Given the description of an element on the screen output the (x, y) to click on. 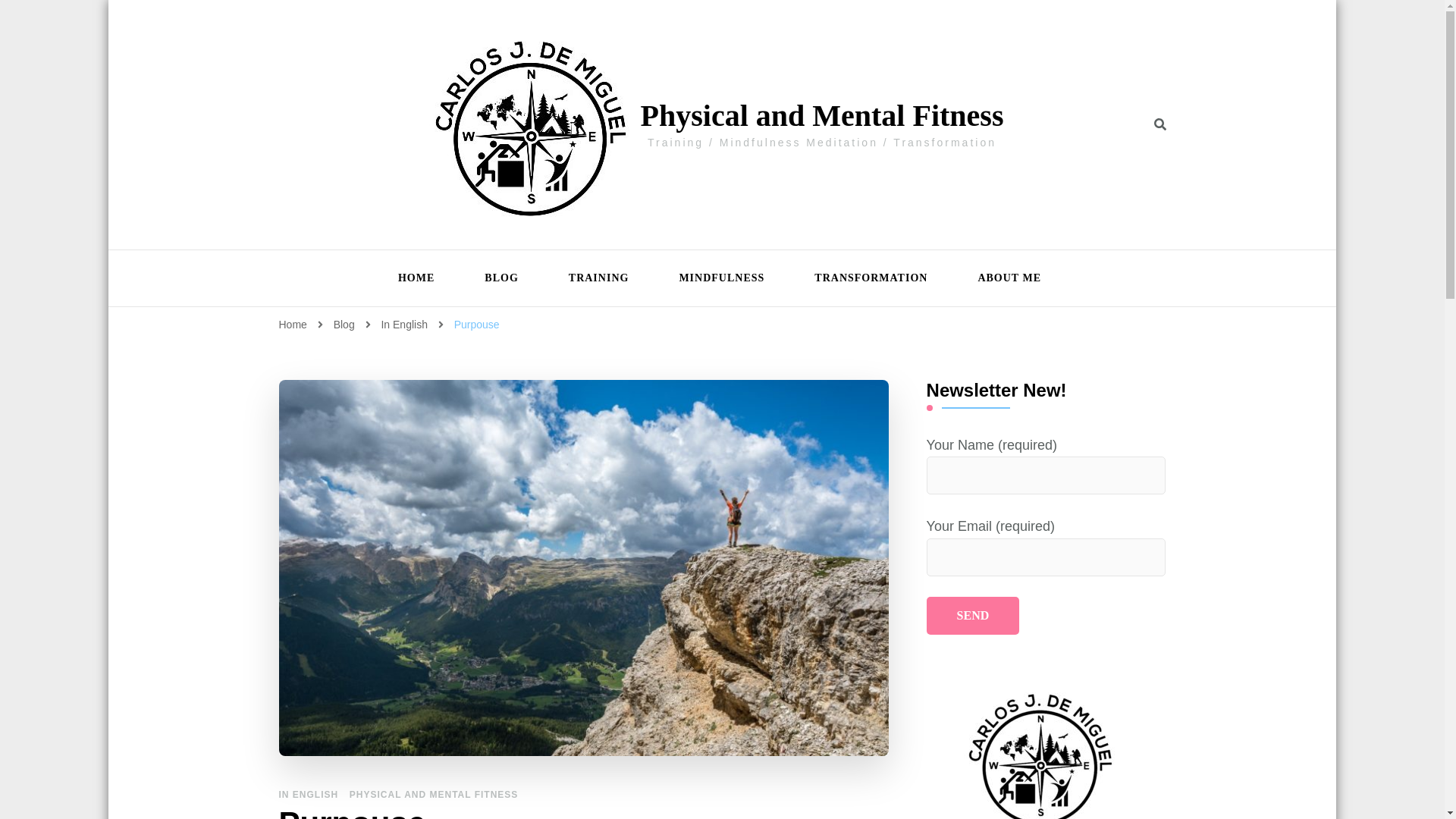
In English (404, 324)
MINDFULNESS (721, 277)
Purpouse (476, 324)
TRAINING (598, 277)
Send (973, 615)
PHYSICAL AND MENTAL FITNESS (433, 794)
Home (293, 324)
Send (973, 615)
TRANSFORMATION (870, 277)
Physical and Mental Fitness (822, 115)
Blog (345, 324)
HOME (416, 277)
BLOG (500, 277)
ABOUT ME (1002, 277)
IN ENGLISH (309, 794)
